Given the description of an element on the screen output the (x, y) to click on. 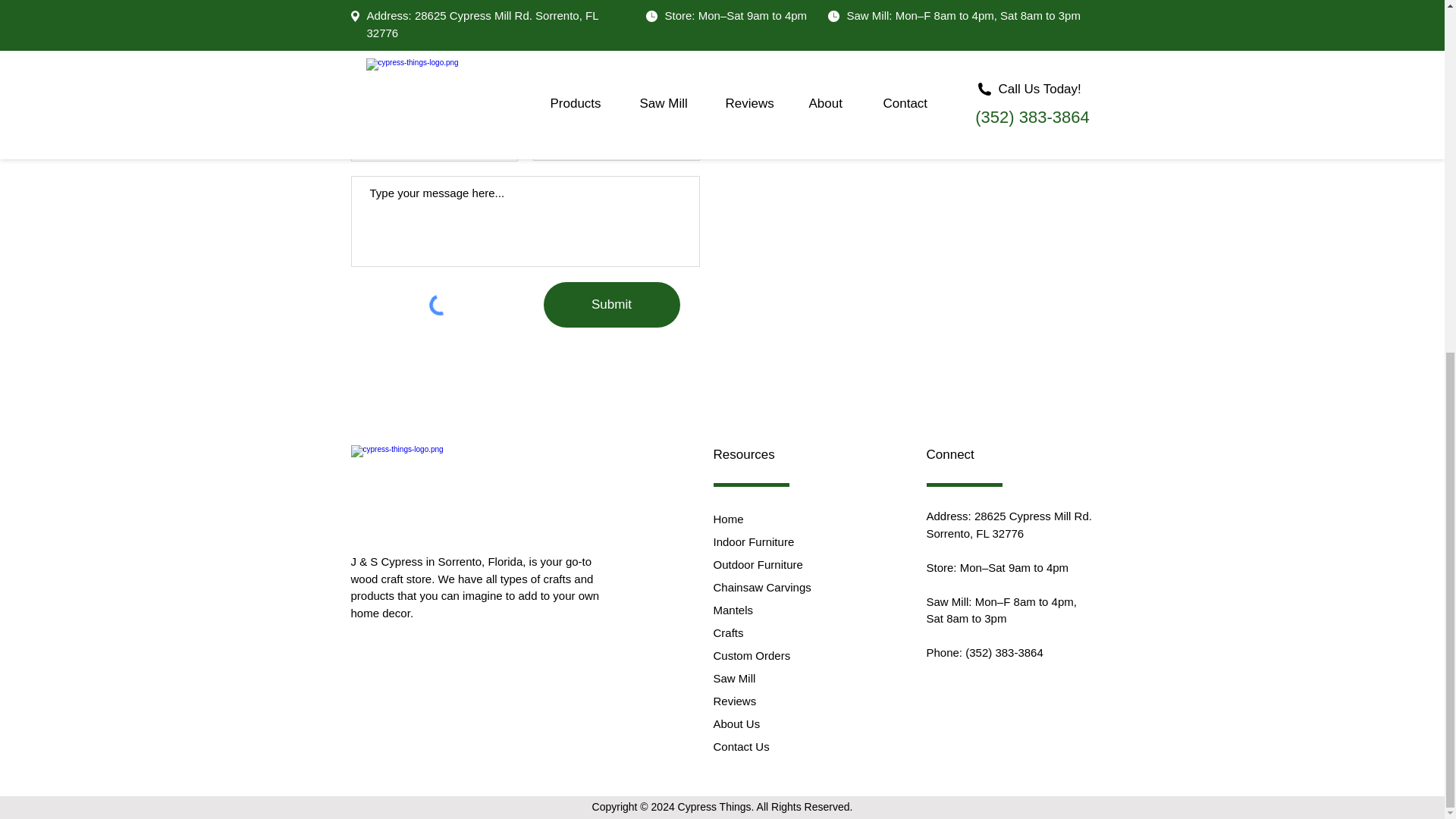
Crafts (727, 632)
Home (727, 518)
Saw Mill (734, 677)
Chainsaw Carvings (761, 586)
Contact Us (740, 746)
Indoor Furniture (753, 541)
Outdoor Furniture (757, 563)
About Us (736, 723)
Reviews (734, 700)
Mantels (732, 609)
